Given the description of an element on the screen output the (x, y) to click on. 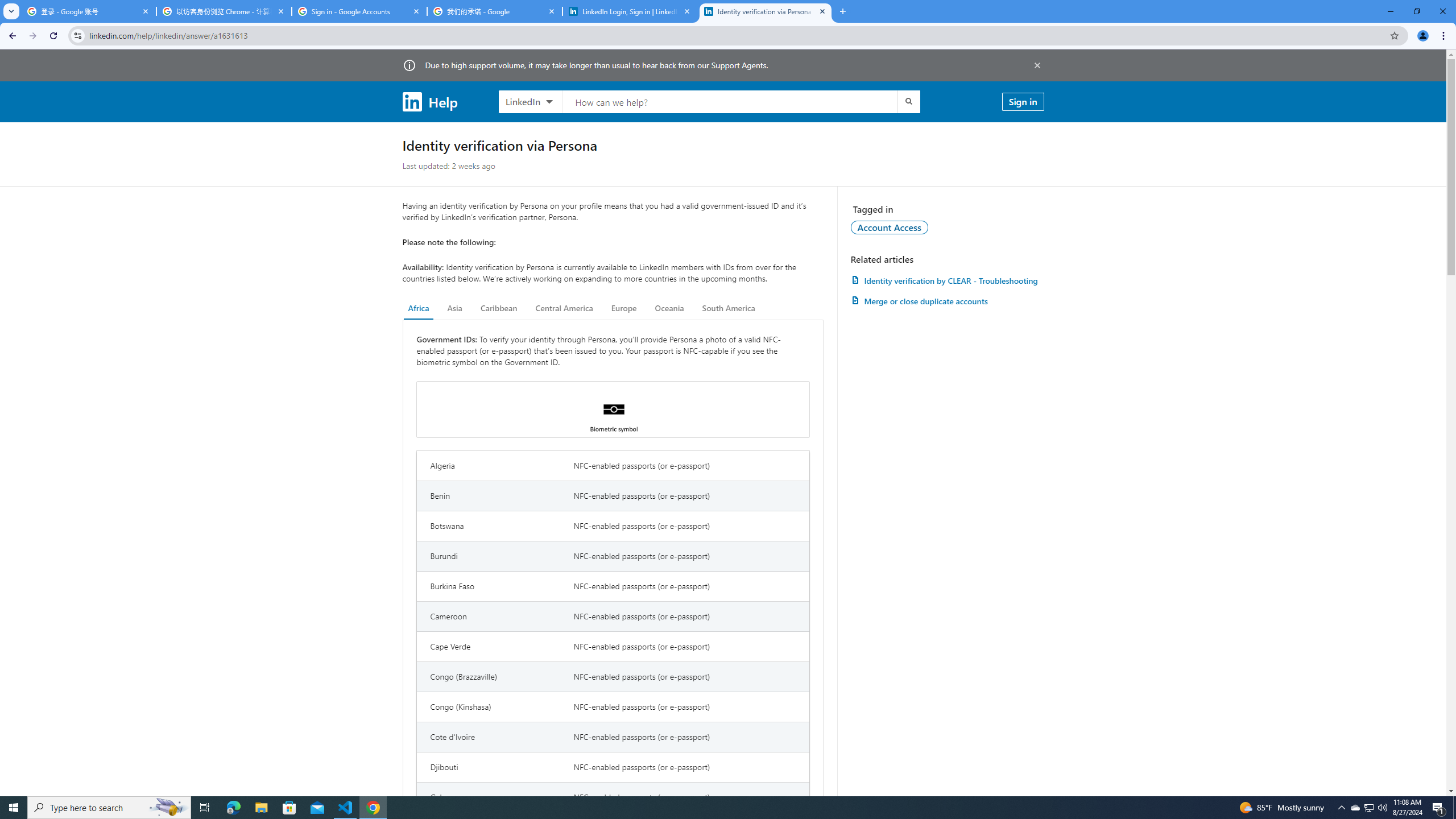
Identity verification by CLEAR - Troubleshooting (946, 280)
Sign in - Google Accounts (359, 11)
Identity verification via Persona | LinkedIn Help (765, 11)
Africa (418, 308)
AutomationID: article-link-a1337200 (946, 300)
Caribbean (499, 308)
Oceania (668, 308)
